Given the description of an element on the screen output the (x, y) to click on. 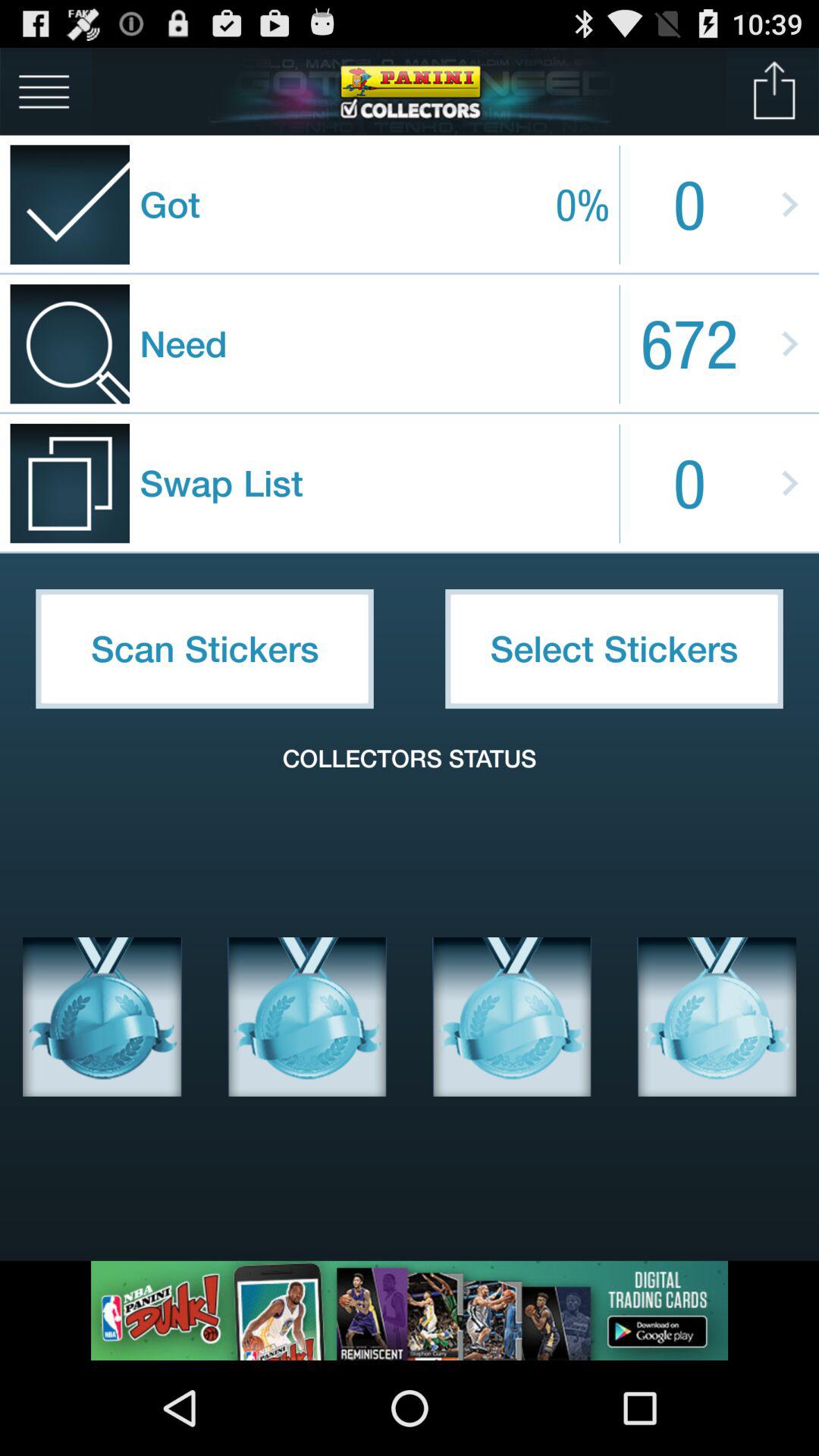
choose item below the collectors status icon (716, 1016)
